Given the description of an element on the screen output the (x, y) to click on. 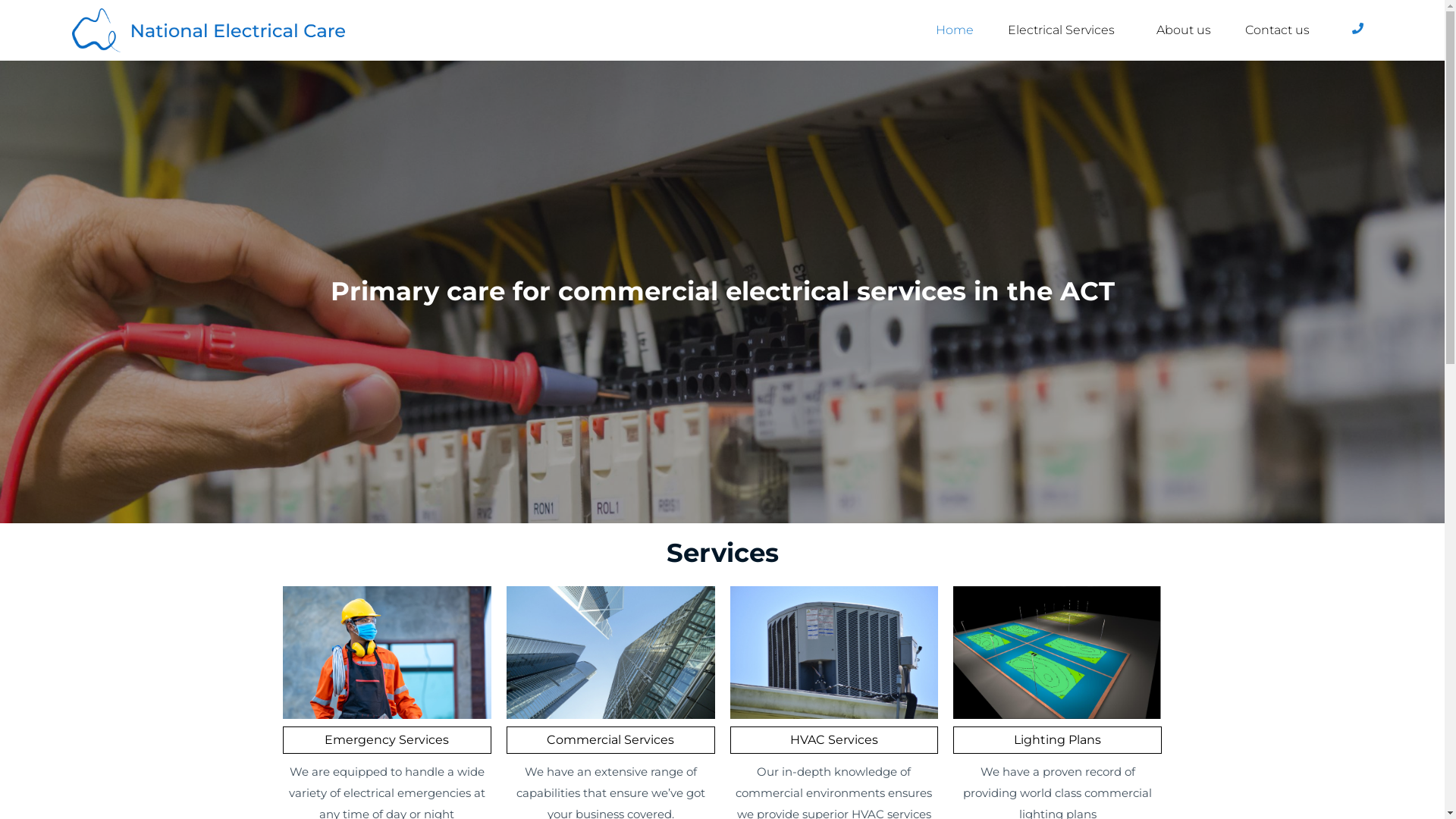
Emergency Services Element type: text (386, 740)
Commercial Services Element type: text (609, 740)
HVAC Services Element type: text (833, 740)
Home Element type: text (954, 29)
Lighting Plans Element type: text (1057, 740)
Electrical Services Element type: text (1064, 29)
Contact us Element type: text (1277, 29)
About us Element type: text (1183, 29)
